Given the description of an element on the screen output the (x, y) to click on. 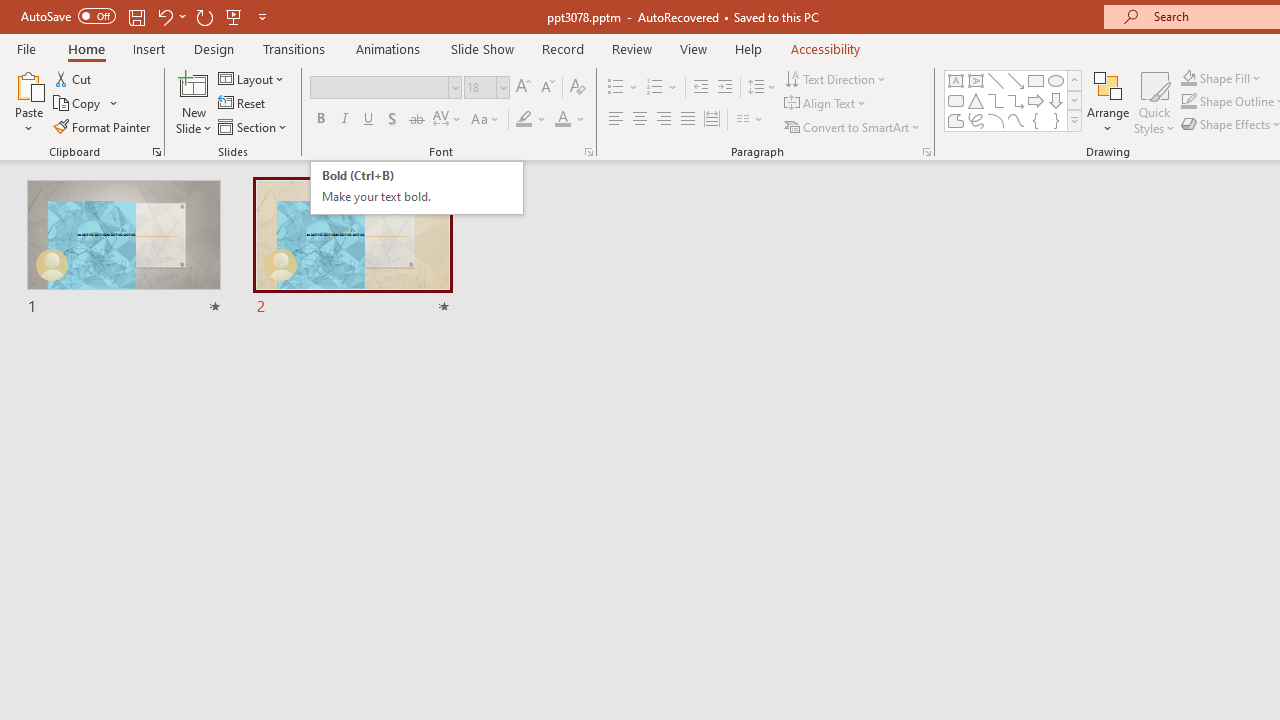
Align Left (616, 119)
Freeform: Shape (955, 120)
Line Spacing (762, 87)
Character Spacing (447, 119)
Vertical Text Box (975, 80)
